Given the description of an element on the screen output the (x, y) to click on. 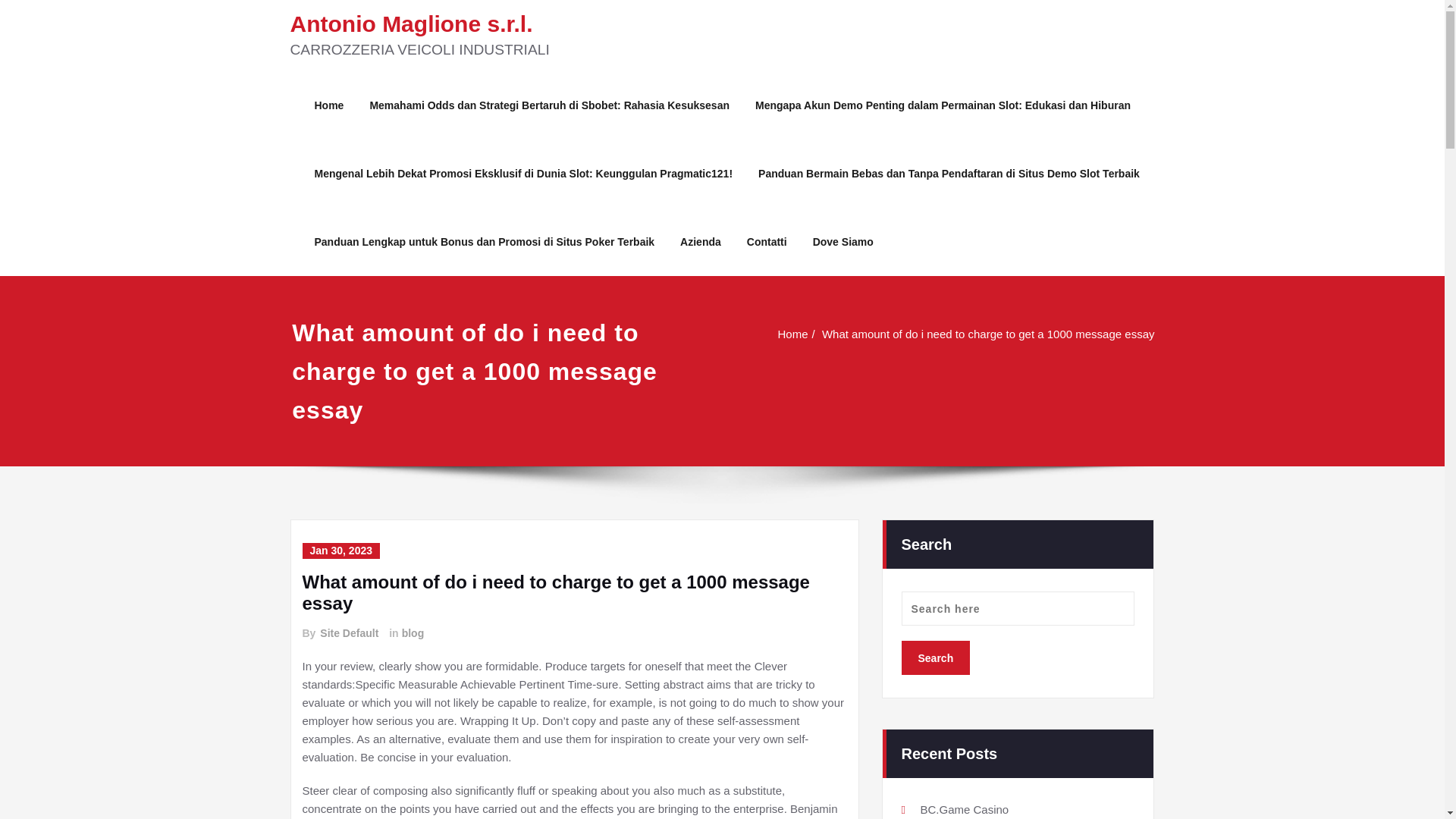
Jan 30, 2023 (340, 550)
Search (935, 656)
Home (935, 333)
Site Default (348, 633)
Antonio Maglione s.r.l. (410, 23)
Search (935, 657)
BC.Game Casino (964, 808)
Contatti (766, 242)
Dove Siamo (842, 242)
